Given the description of an element on the screen output the (x, y) to click on. 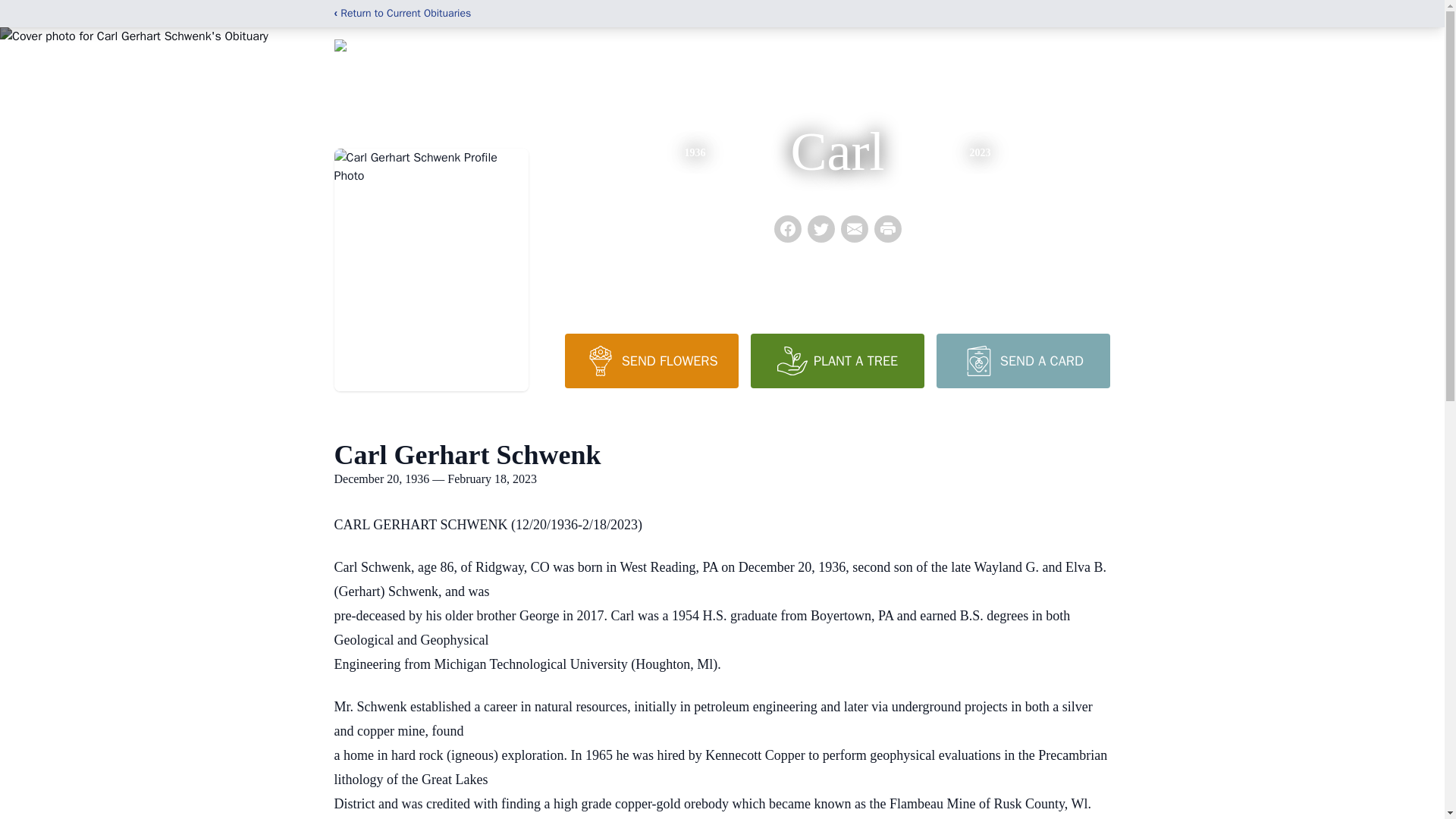
SEND A CARD (1022, 360)
PLANT A TREE (837, 360)
SEND FLOWERS (651, 360)
